Given the description of an element on the screen output the (x, y) to click on. 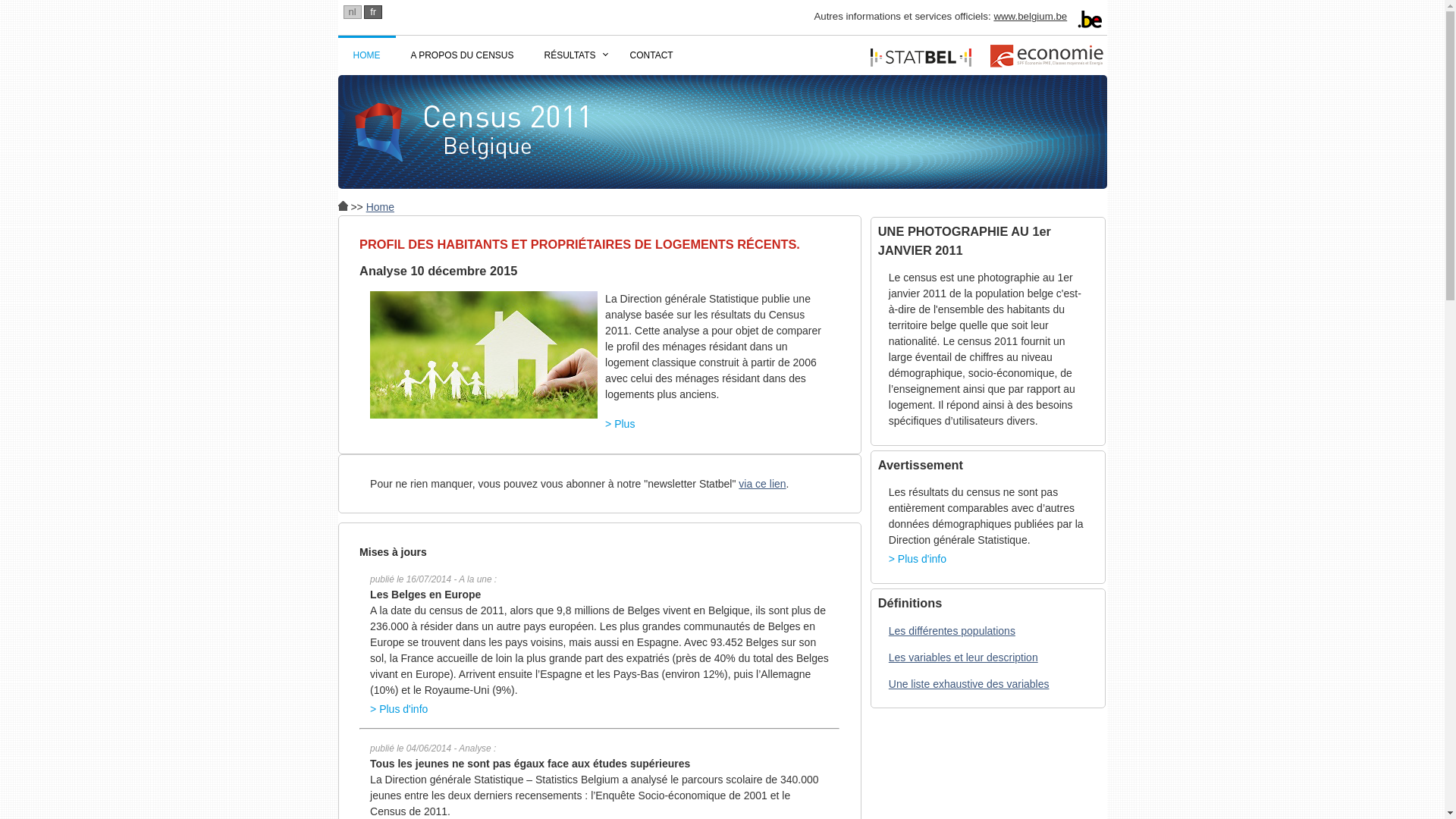
CONTACT Element type: text (651, 55)
A PROPOS DU CENSUS Element type: text (462, 55)
nl Element type: text (351, 11)
Home Element type: text (380, 206)
www.belgium.be Element type: text (1029, 15)
via ce lien Element type: text (761, 483)
HOME Element type: text (366, 55)
> Plus d'info Element type: text (599, 707)
Les variables et leur description Element type: text (963, 657)
Une liste exhaustive des variables Element type: text (968, 683)
> Plus d'info Element type: text (987, 557)
> Plus Element type: text (599, 422)
